Given the description of an element on the screen output the (x, y) to click on. 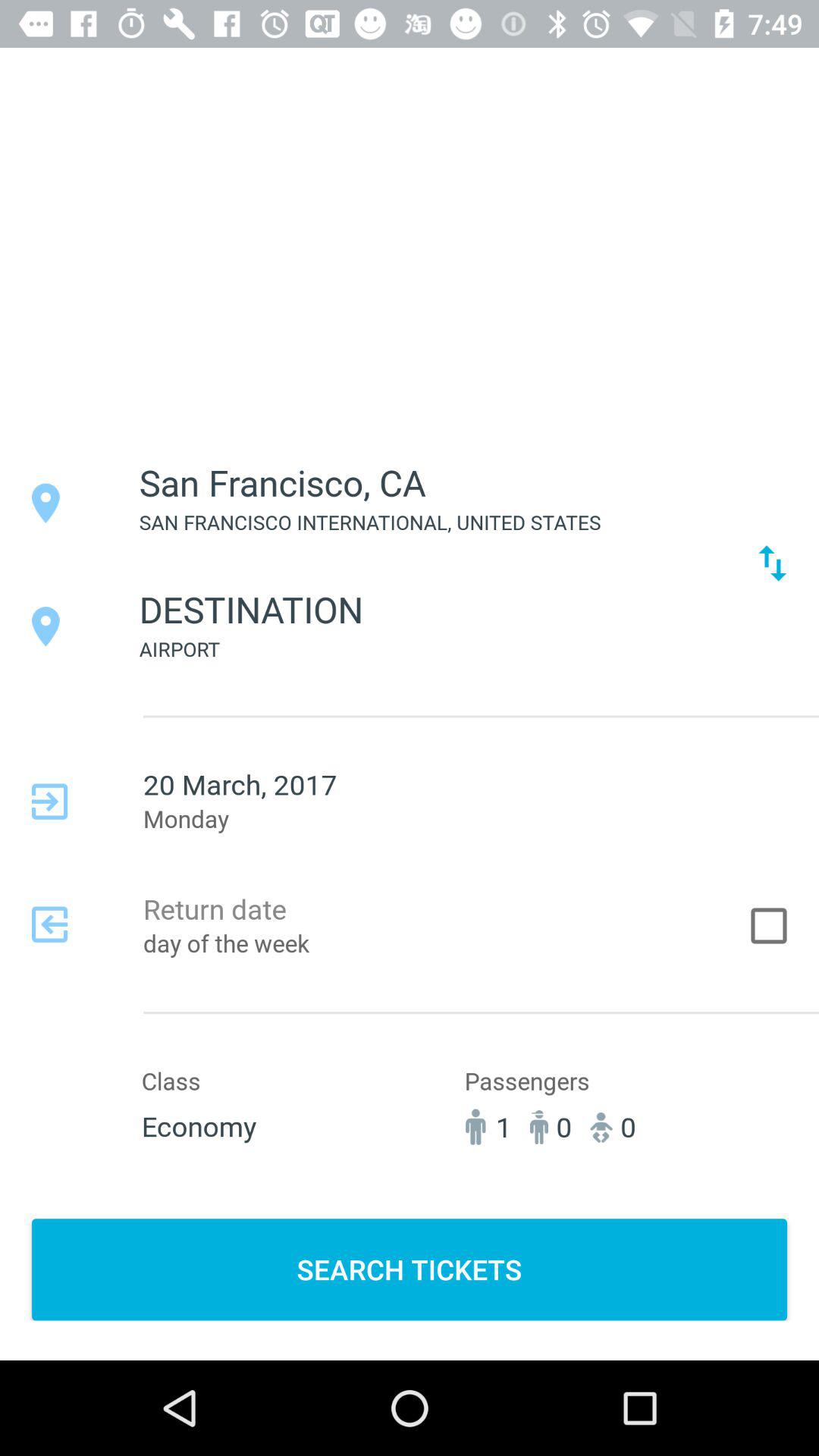
turn on the search tickets button (409, 1269)
